Given the description of an element on the screen output the (x, y) to click on. 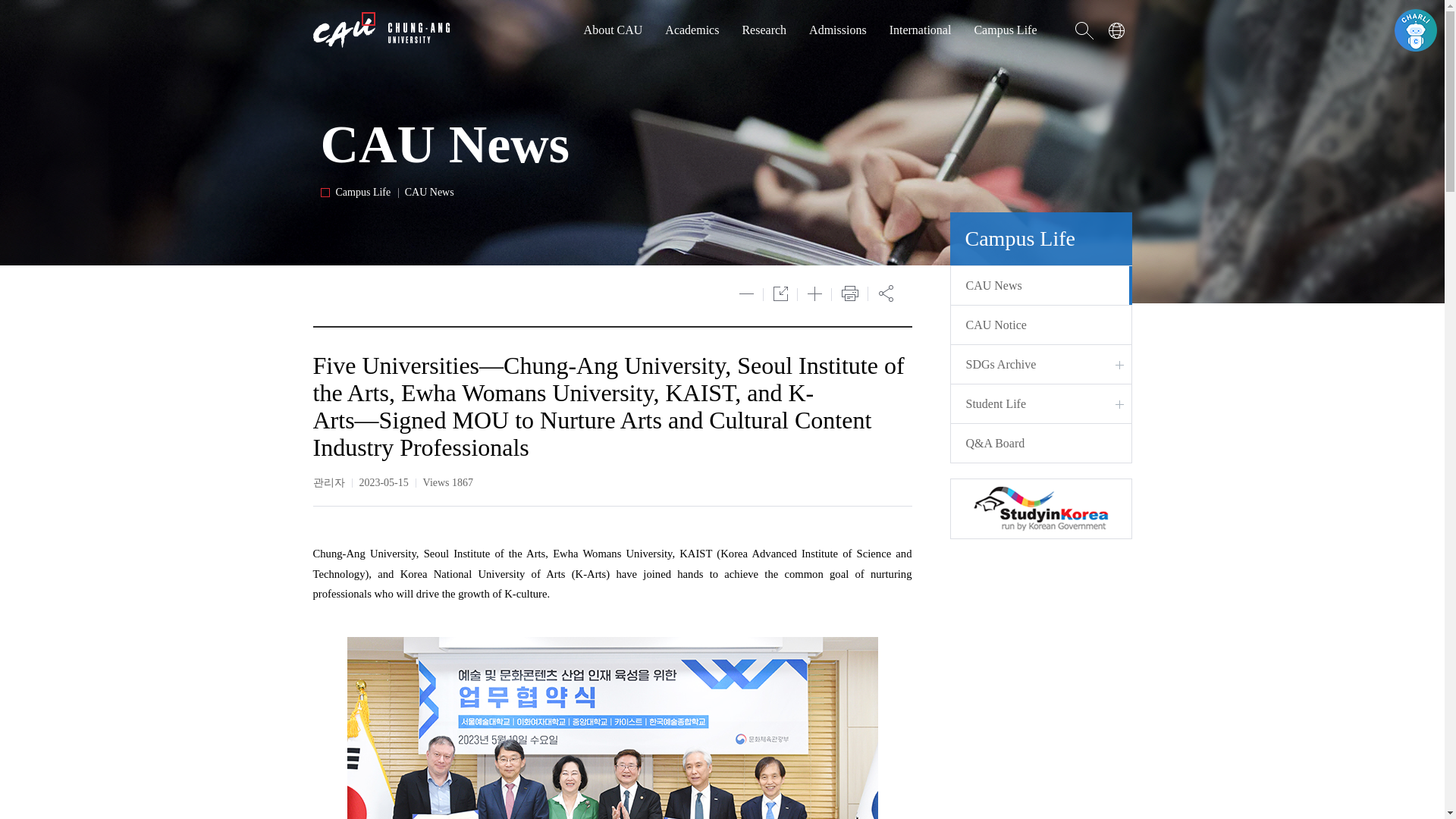
International (920, 30)
Admissions (837, 30)
Admissions (837, 30)
Campus Life  (1005, 30)
International (920, 30)
About CAU (613, 30)
Campus Life (1005, 30)
About CAU (613, 30)
